Given the description of an element on the screen output the (x, y) to click on. 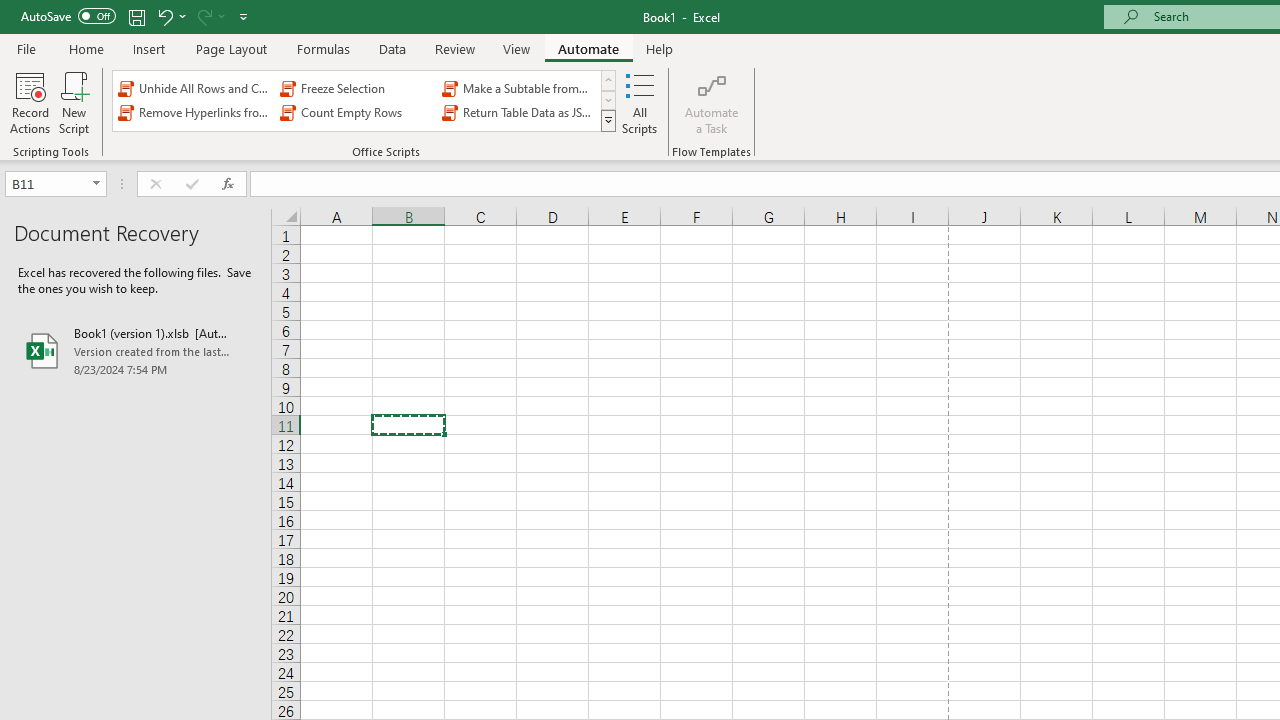
Freeze Selection (356, 88)
Automate a Task (712, 102)
